Given the description of an element on the screen output the (x, y) to click on. 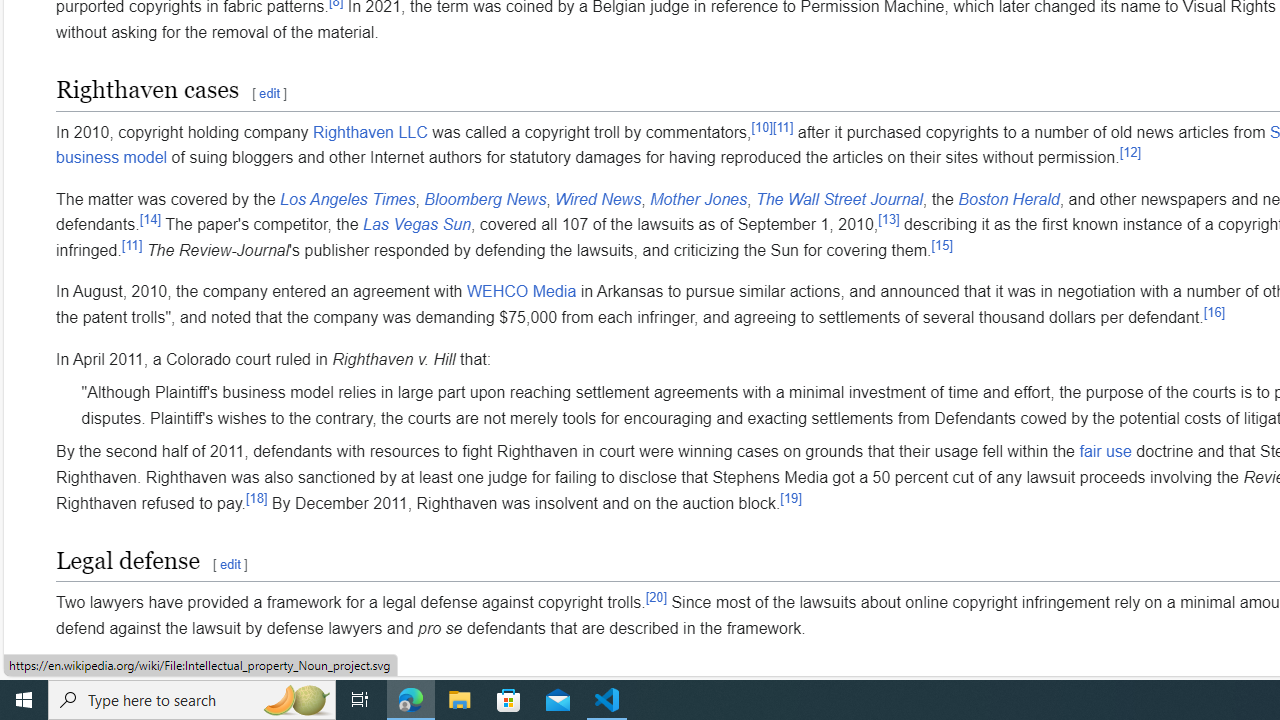
WEHCO Media (521, 291)
Boston Herald (1008, 199)
Righthaven LLC (370, 132)
[16] (1214, 311)
[15] (941, 244)
[11] (132, 244)
Mother Jones (698, 199)
